Given the description of an element on the screen output the (x, y) to click on. 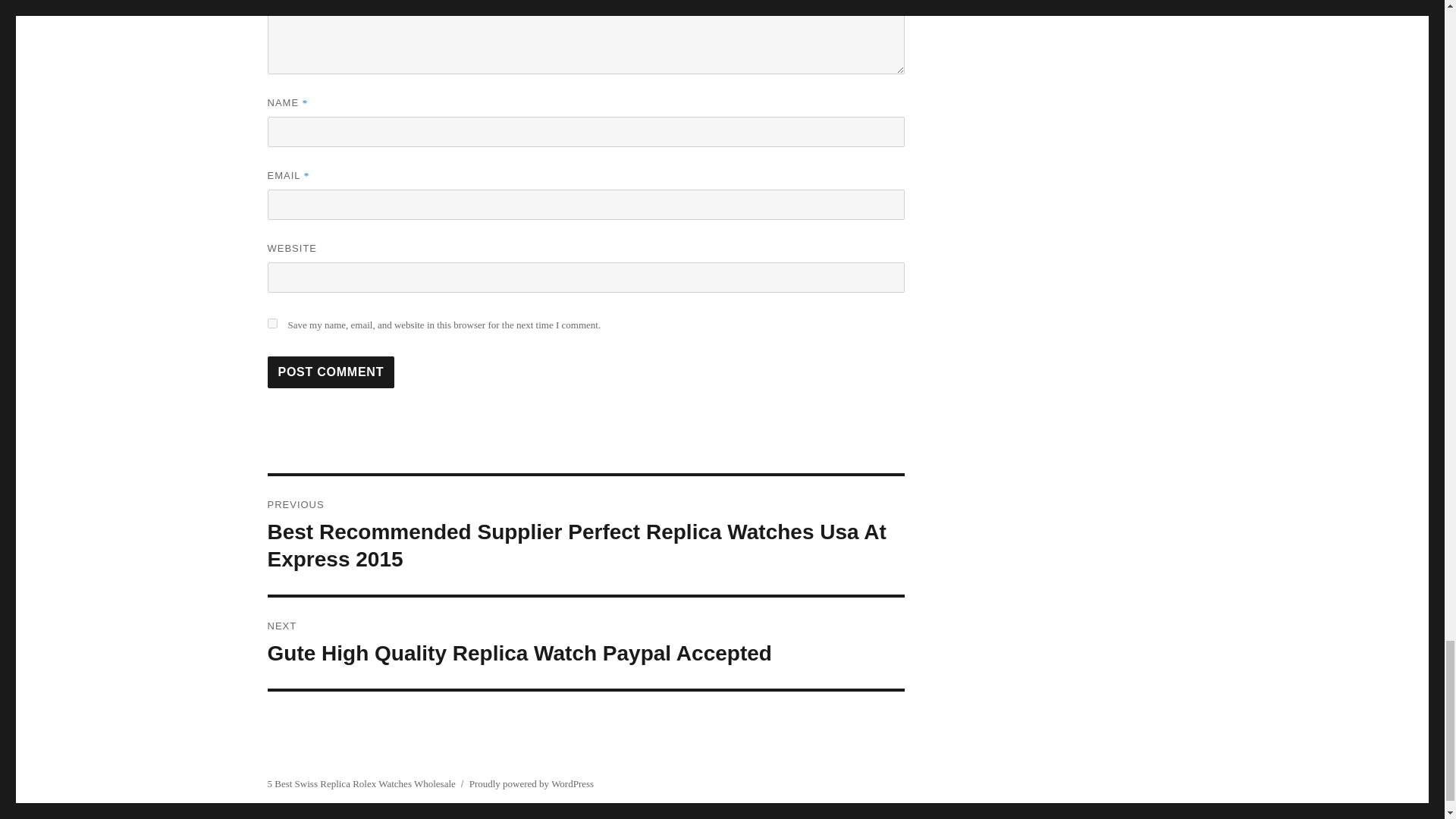
yes (271, 323)
Post Comment (330, 372)
Post Comment (330, 372)
